Given the description of an element on the screen output the (x, y) to click on. 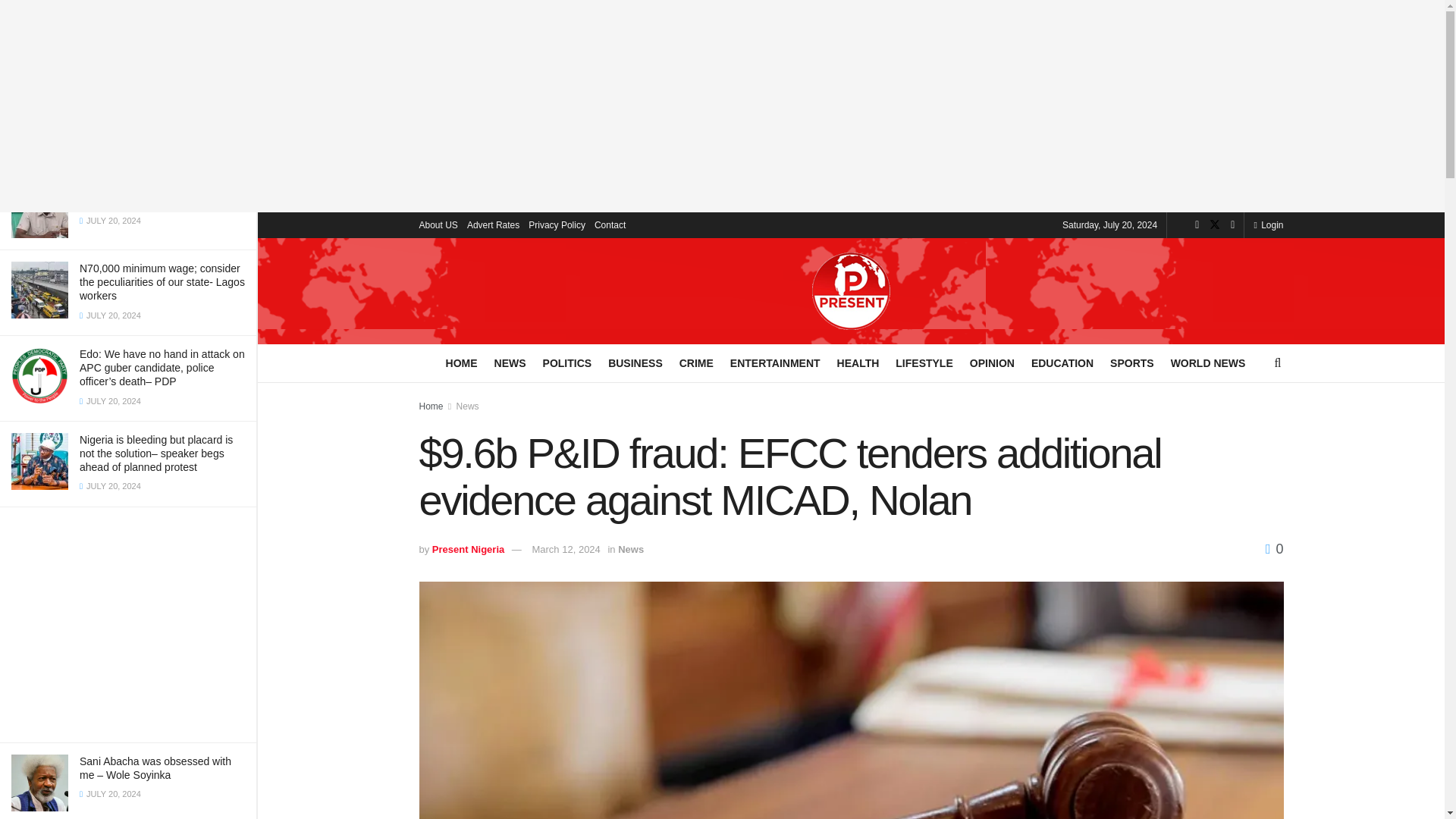
HEALTH (858, 362)
POLITICS (567, 362)
Login (1267, 225)
LIFESTYLE (923, 362)
BUSINESS (635, 362)
Advert Rates (493, 225)
ENTERTAINMENT (775, 362)
Advertisement (128, 624)
Contact (610, 225)
OPINION (991, 362)
HOME (461, 362)
NEWS (510, 362)
